Given the description of an element on the screen output the (x, y) to click on. 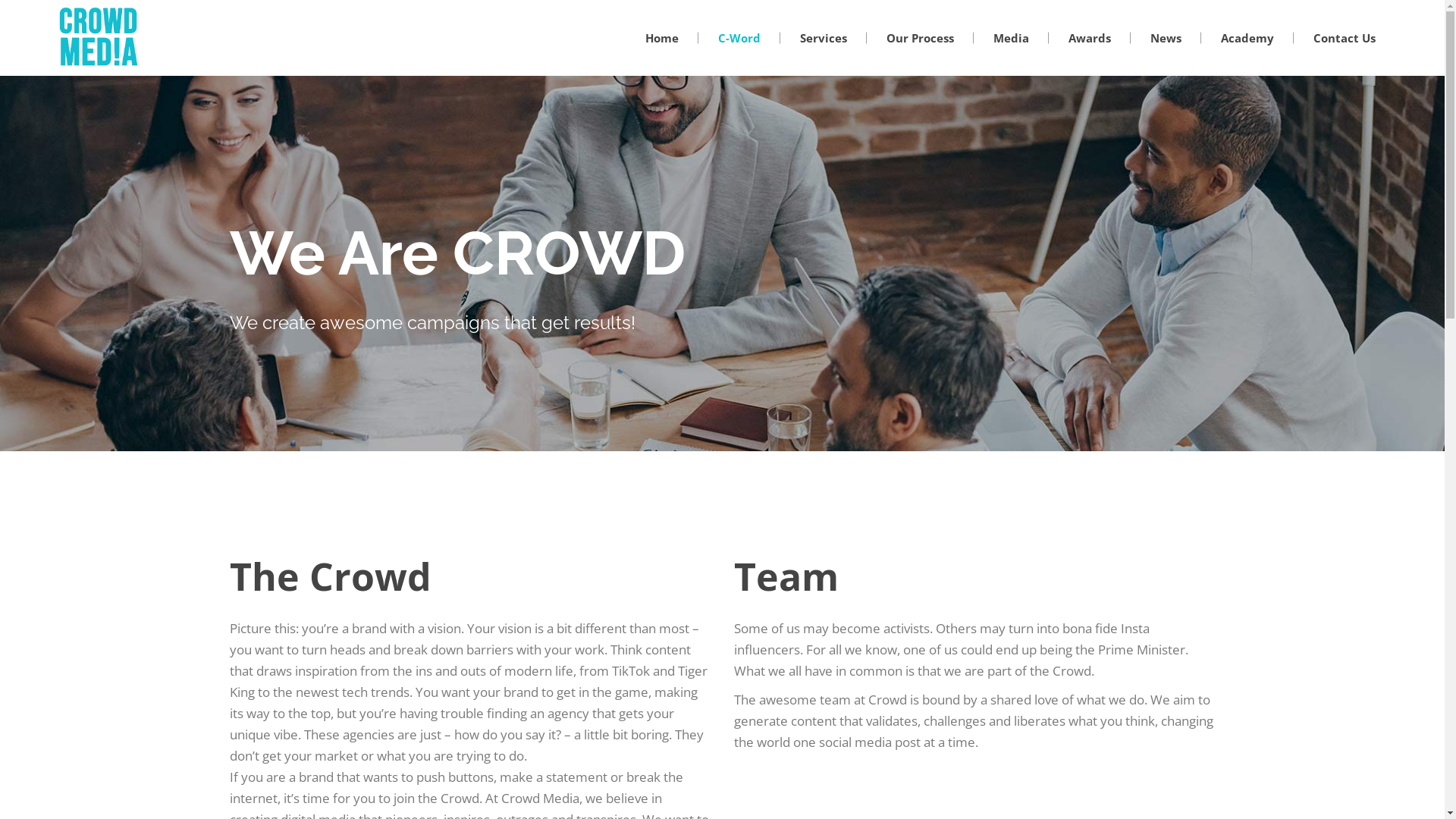
C-Word Element type: text (739, 37)
Home Element type: text (661, 37)
Services Element type: text (823, 37)
Contact Us Element type: text (1344, 37)
Awards Element type: text (1089, 37)
Our Process Element type: text (919, 37)
News Element type: text (1165, 37)
Media Element type: text (1010, 37)
Academy Element type: text (1247, 37)
